Given the description of an element on the screen output the (x, y) to click on. 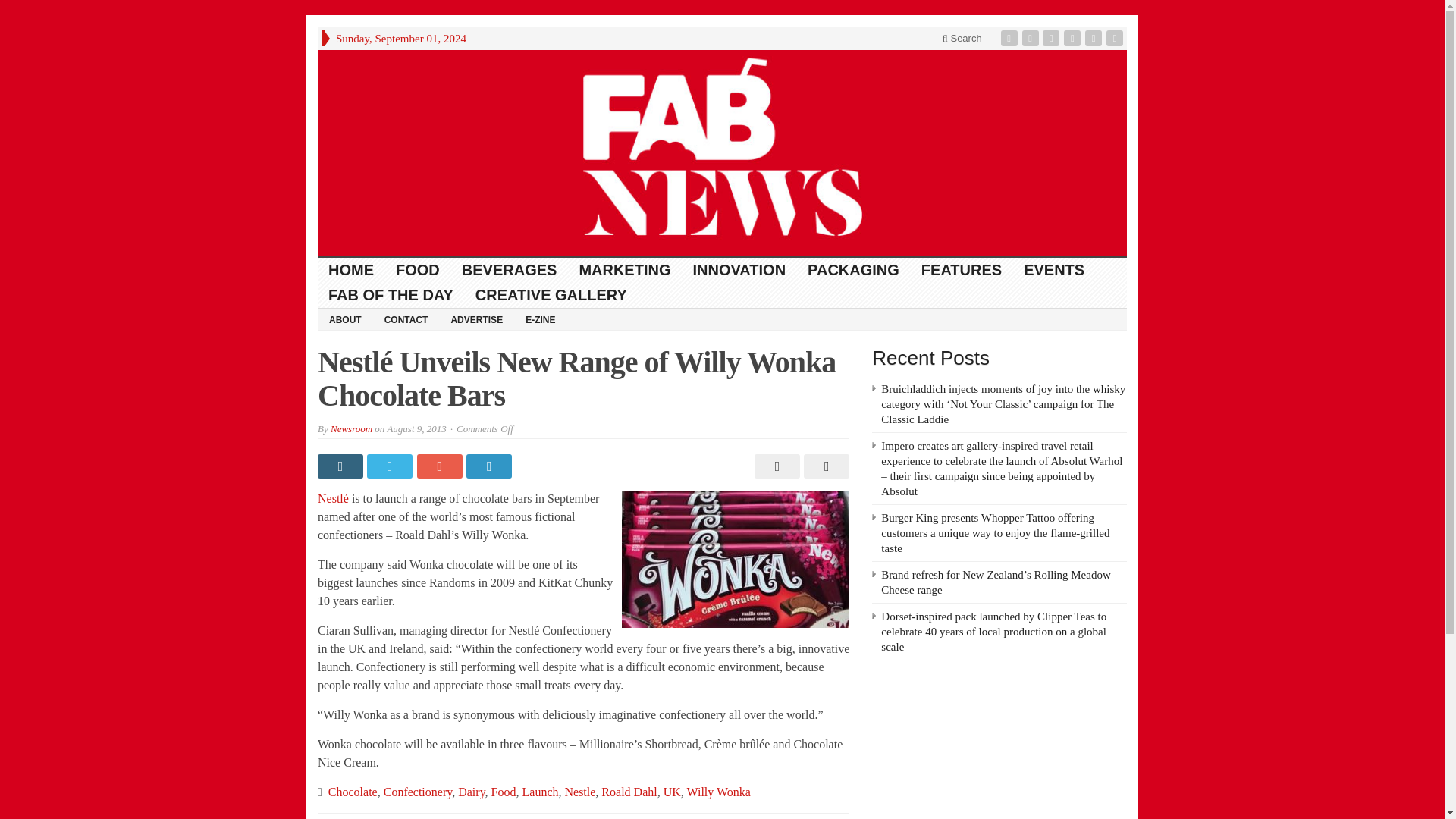
E-ZINE (539, 319)
Youtube (1073, 37)
HOME (351, 269)
FEATURES (962, 269)
CONTACT (405, 319)
CREATIVE GALLERY (551, 294)
INNOVATION (738, 269)
EVENTS (1054, 269)
FAB OF THE DAY (390, 294)
